Given the description of an element on the screen output the (x, y) to click on. 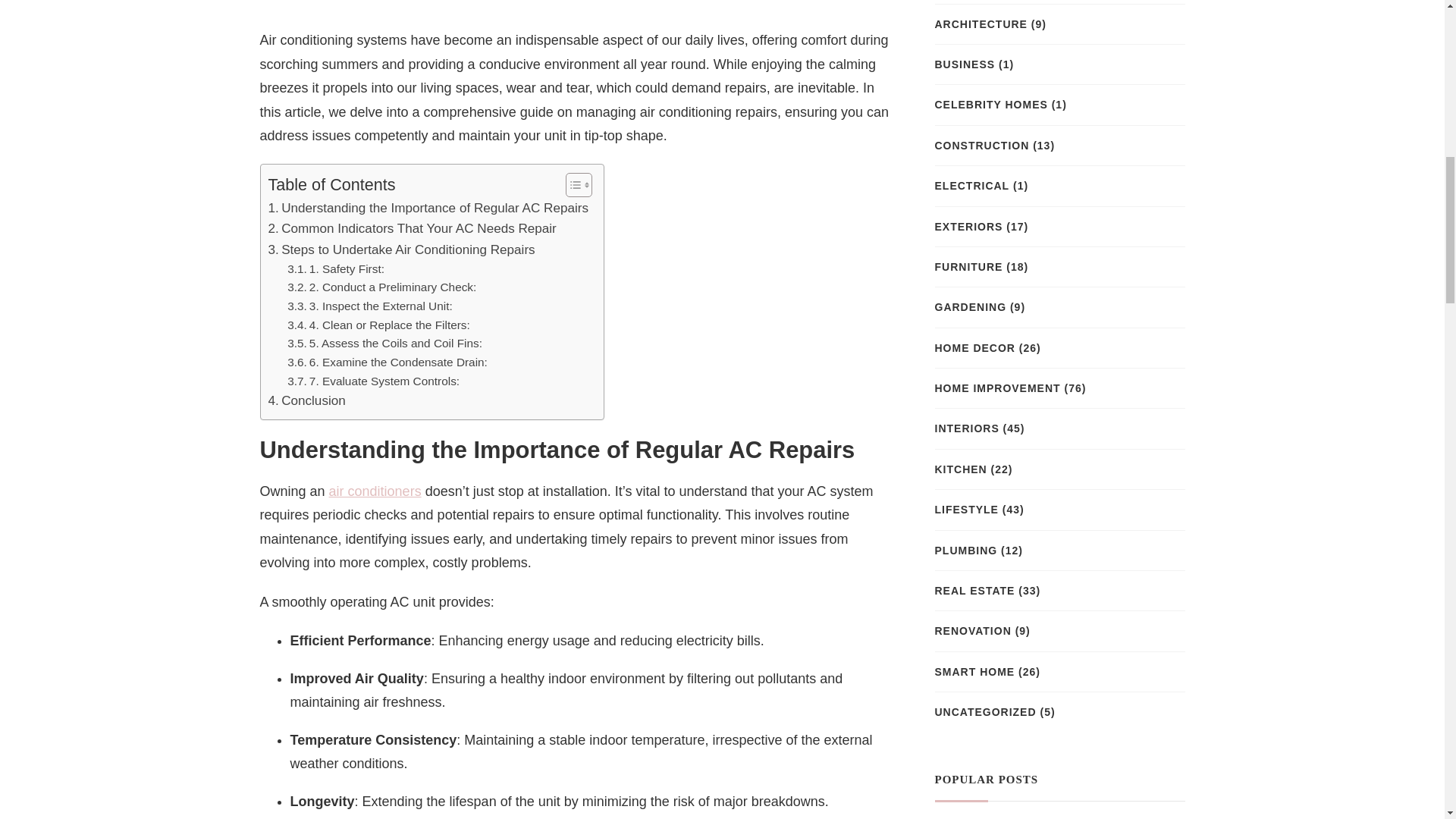
2. Conduct a Preliminary Check: (381, 287)
Understanding the Importance of Regular AC Repairs (427, 208)
Common Indicators That Your AC Needs Repair (411, 228)
Understanding the Importance of Regular AC Repairs (427, 208)
1. Safety First: (335, 269)
4. Clean or Replace the Filters: (378, 325)
5. Assess the Coils and Coil Fins: (383, 343)
1. Safety First: (335, 269)
Common Indicators That Your AC Needs Repair (411, 228)
6. Examine the Condensate Drain: (386, 362)
7. Evaluate System Controls: (373, 381)
Steps to Undertake Air Conditioning Repairs (401, 249)
Steps to Undertake Air Conditioning Repairs (401, 249)
3. Inspect the External Unit: (369, 306)
Conclusion (306, 400)
